Given the description of an element on the screen output the (x, y) to click on. 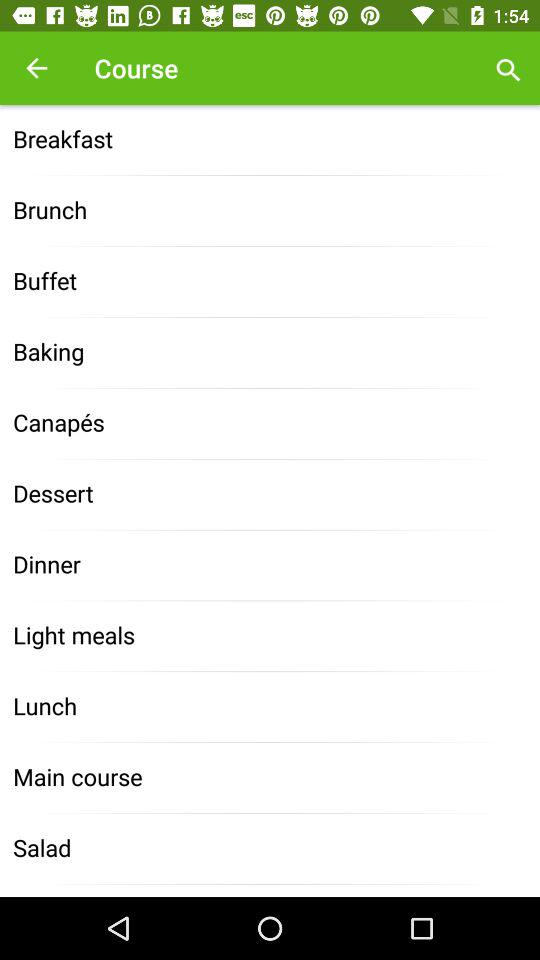
flip until the salad (270, 848)
